Given the description of an element on the screen output the (x, y) to click on. 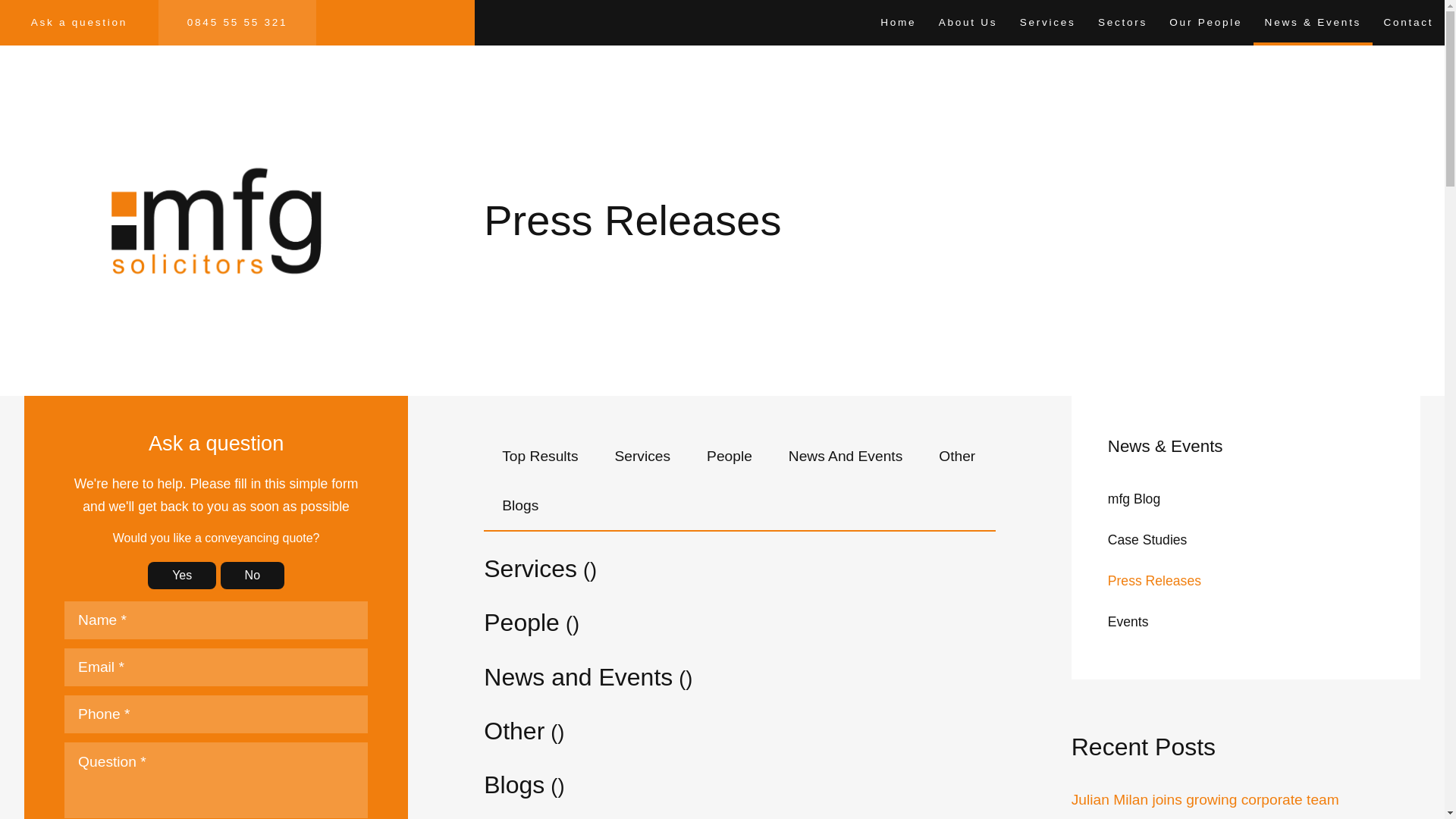
Services (1047, 22)
Home (898, 22)
Ask a question (79, 22)
About Us (968, 22)
0845 55 55 321 (237, 22)
